Given the description of an element on the screen output the (x, y) to click on. 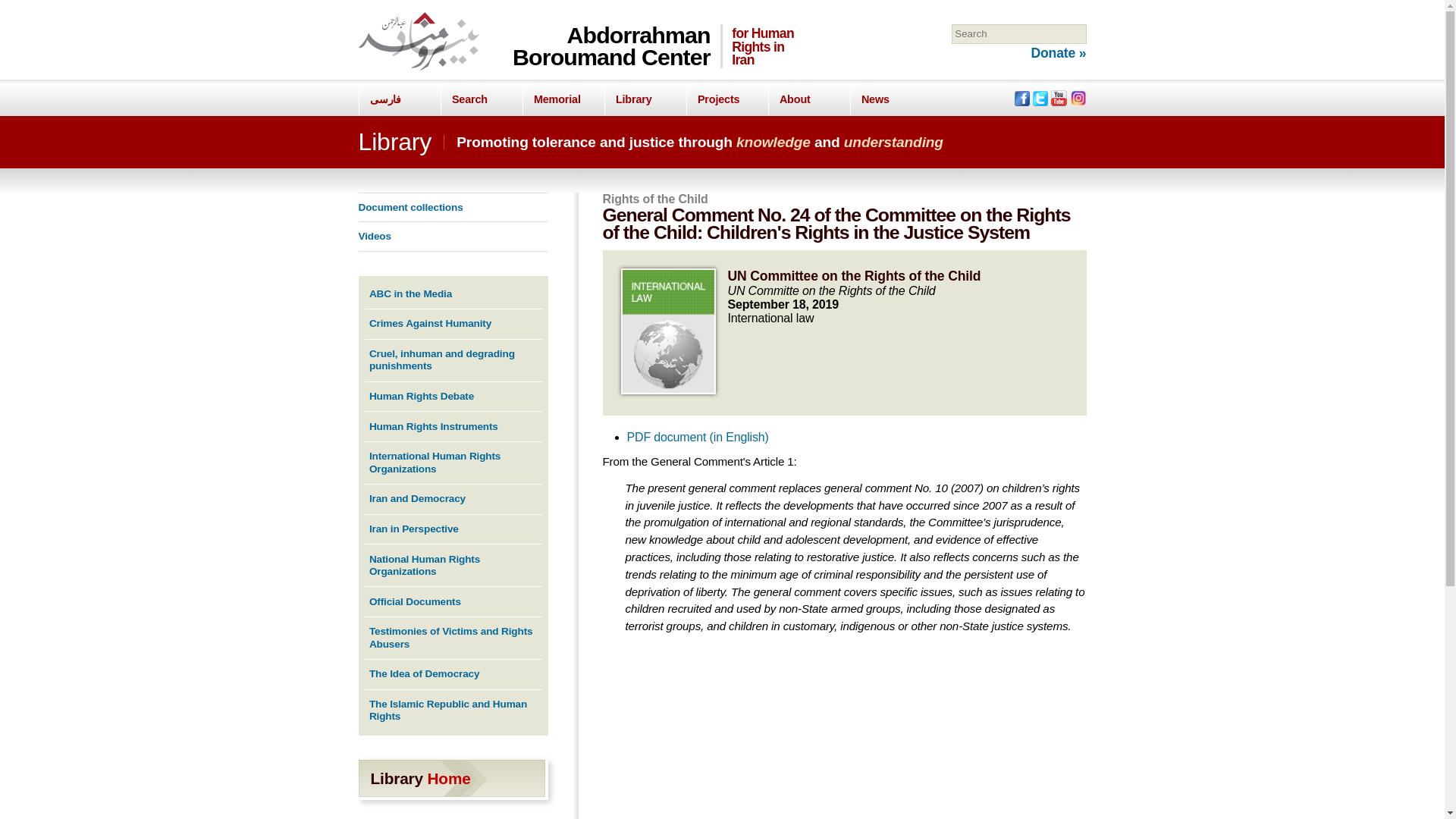
News (889, 99)
Library (644, 99)
Abdorrahman Boroumand Center (611, 45)
Document collections (410, 206)
About (807, 99)
Donate (1058, 52)
Library (394, 141)
Projects (726, 99)
ABC in the Media (410, 293)
Videos (374, 235)
Search (480, 99)
Memorial (562, 99)
